Given the description of an element on the screen output the (x, y) to click on. 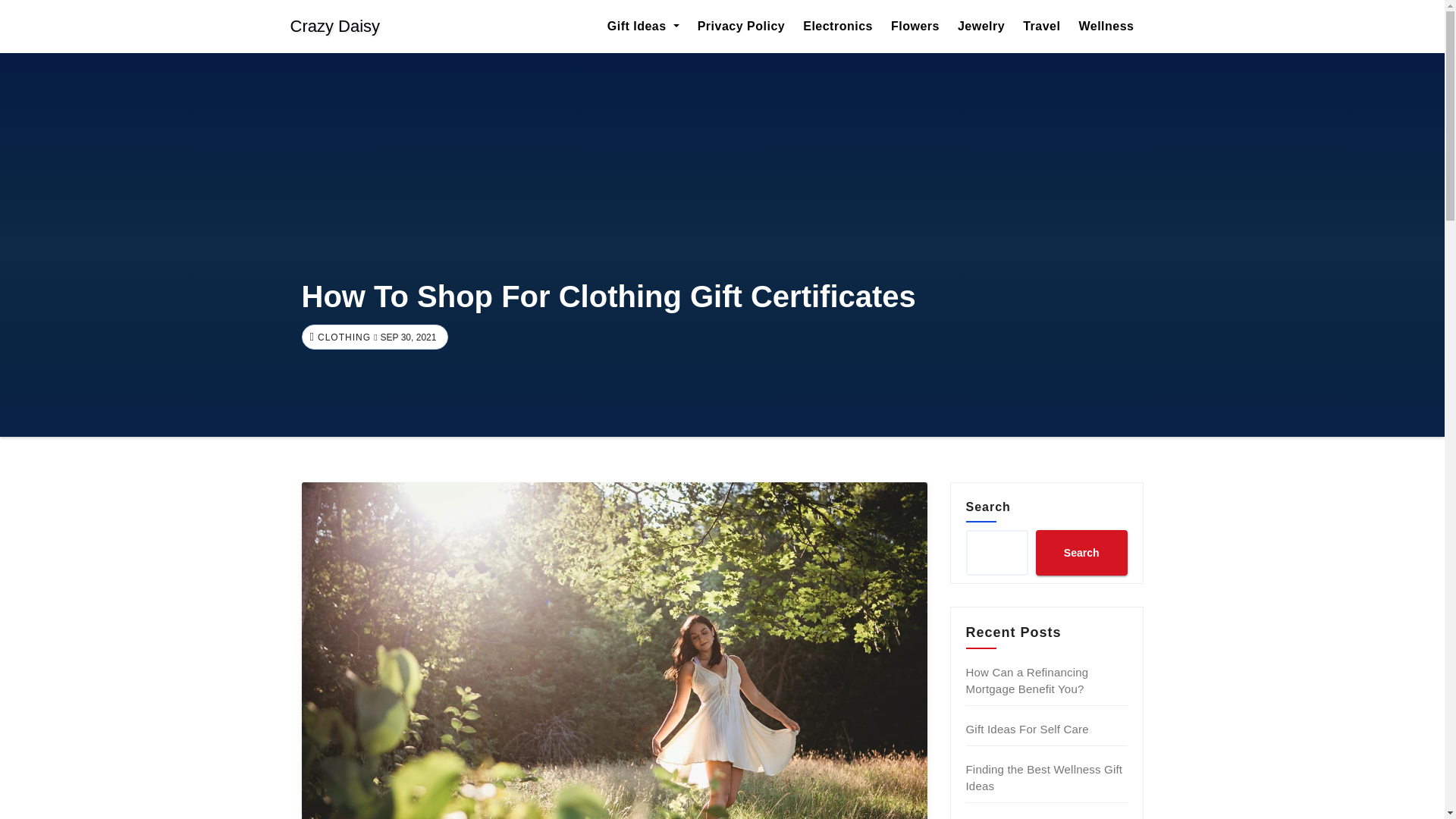
Search (1080, 552)
Electronics (837, 26)
Electronics (837, 26)
Jewelry (981, 26)
Travel (1040, 26)
Privacy Policy (741, 26)
Privacy Policy (741, 26)
Flowers (915, 26)
Crazy Daisy (334, 26)
Finding the Best Wellness Gift Ideas (1044, 777)
